Given the description of an element on the screen output the (x, y) to click on. 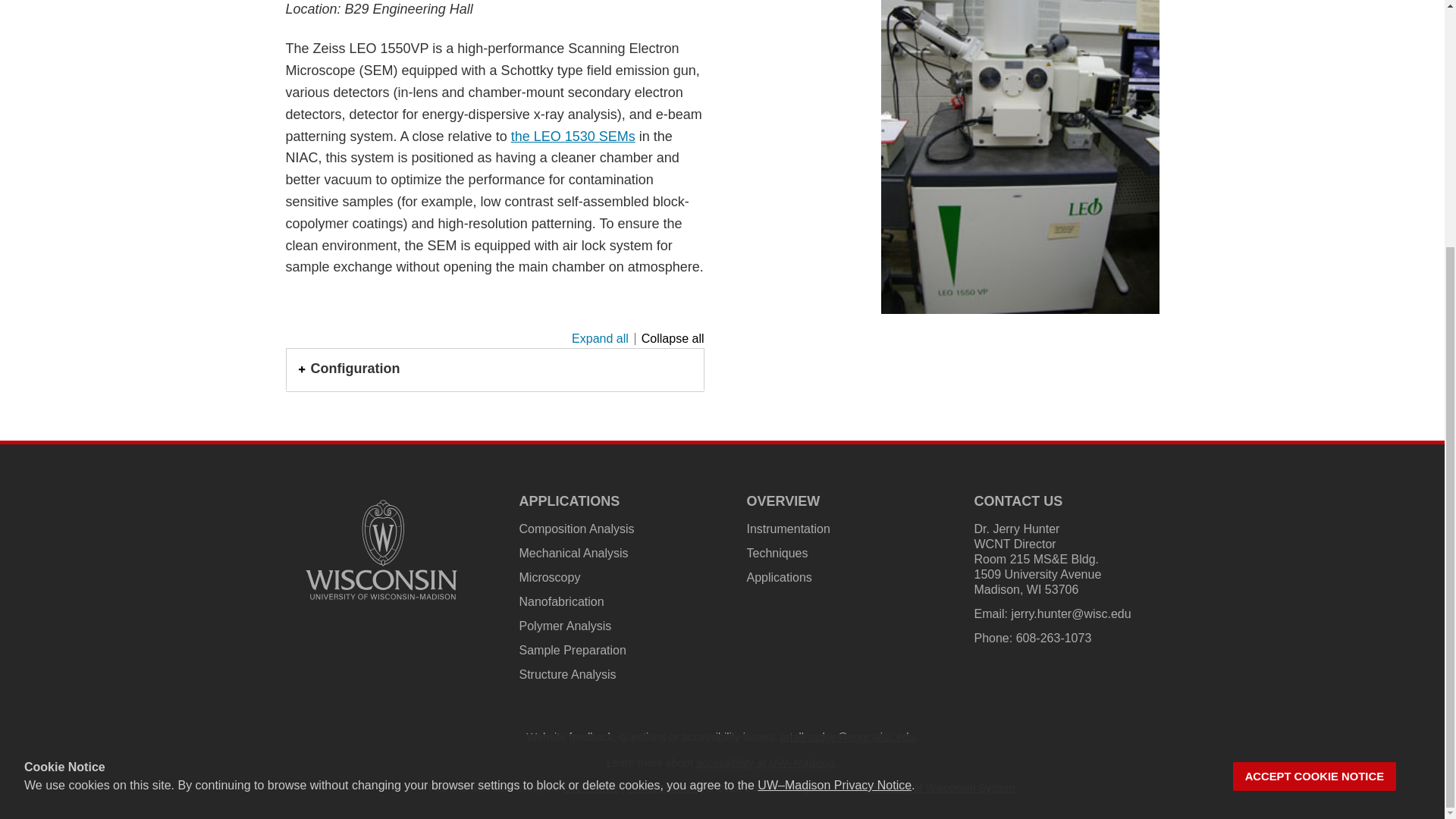
Mechanical Analysis (572, 553)
Collapse all (669, 338)
ACCEPT COOKIE NOTICE (1314, 431)
Microscopy (548, 576)
University logo that links to main university website (380, 602)
Expand all (600, 338)
University logo that links to main university website (380, 549)
the LEO 1530 SEMs (572, 136)
Composition Analysis (575, 528)
Configuration (494, 369)
